Given the description of an element on the screen output the (x, y) to click on. 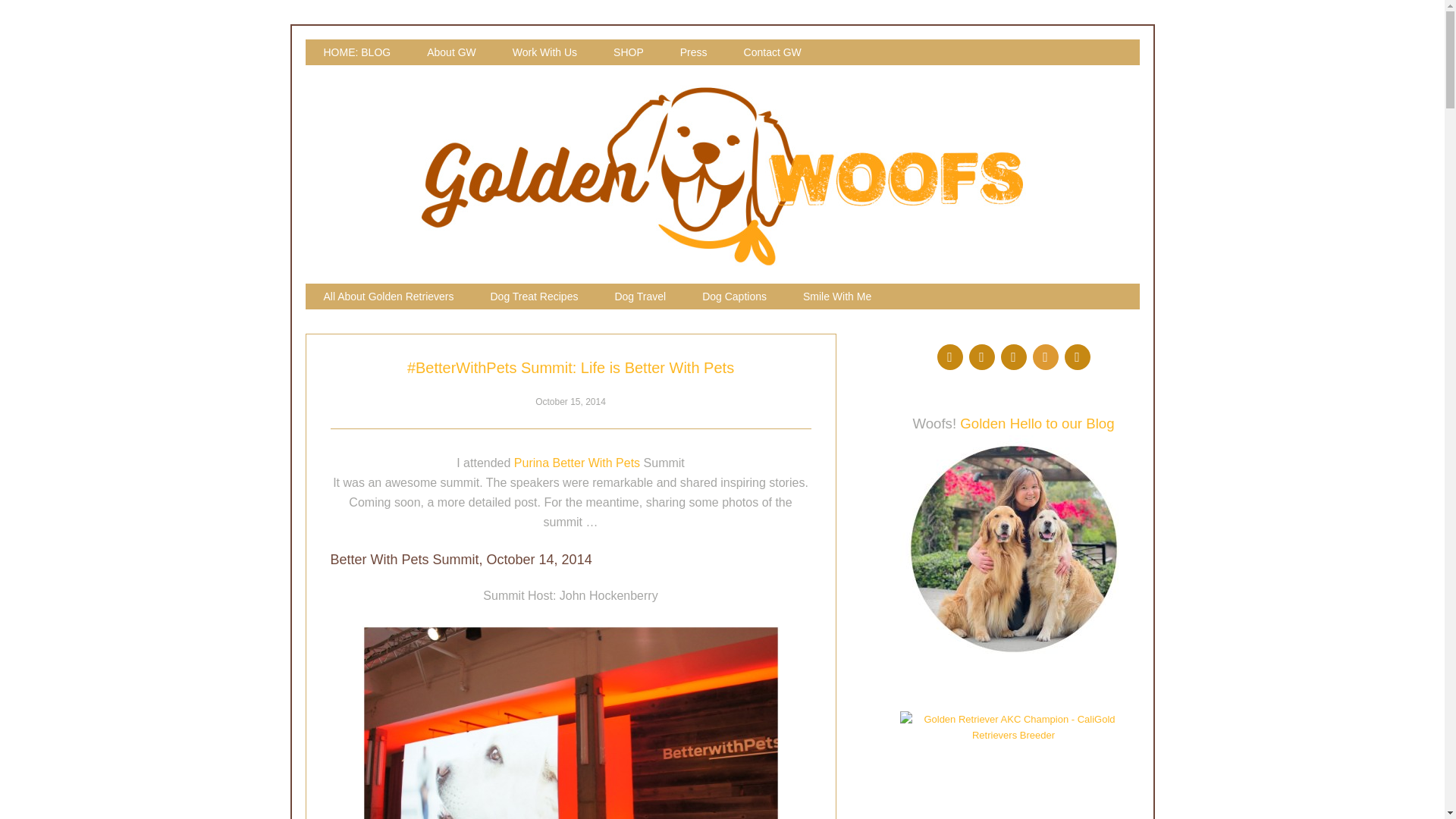
Better With Pets Summit (570, 722)
Press (693, 52)
Dog Captions (734, 296)
Purina Better With Pets (576, 462)
SHOP (628, 52)
Golden Woofs : Sugar the Golden Retriever (722, 261)
Work With Us (545, 52)
Dog Treat Recipes (533, 296)
Dog Travel (639, 296)
All About Golden Retrievers (387, 296)
All About Golden Retrievers (387, 296)
HOME: BLOG (356, 52)
About GW (452, 52)
Smile With Me (836, 296)
Contact GW (772, 52)
